Given the description of an element on the screen output the (x, y) to click on. 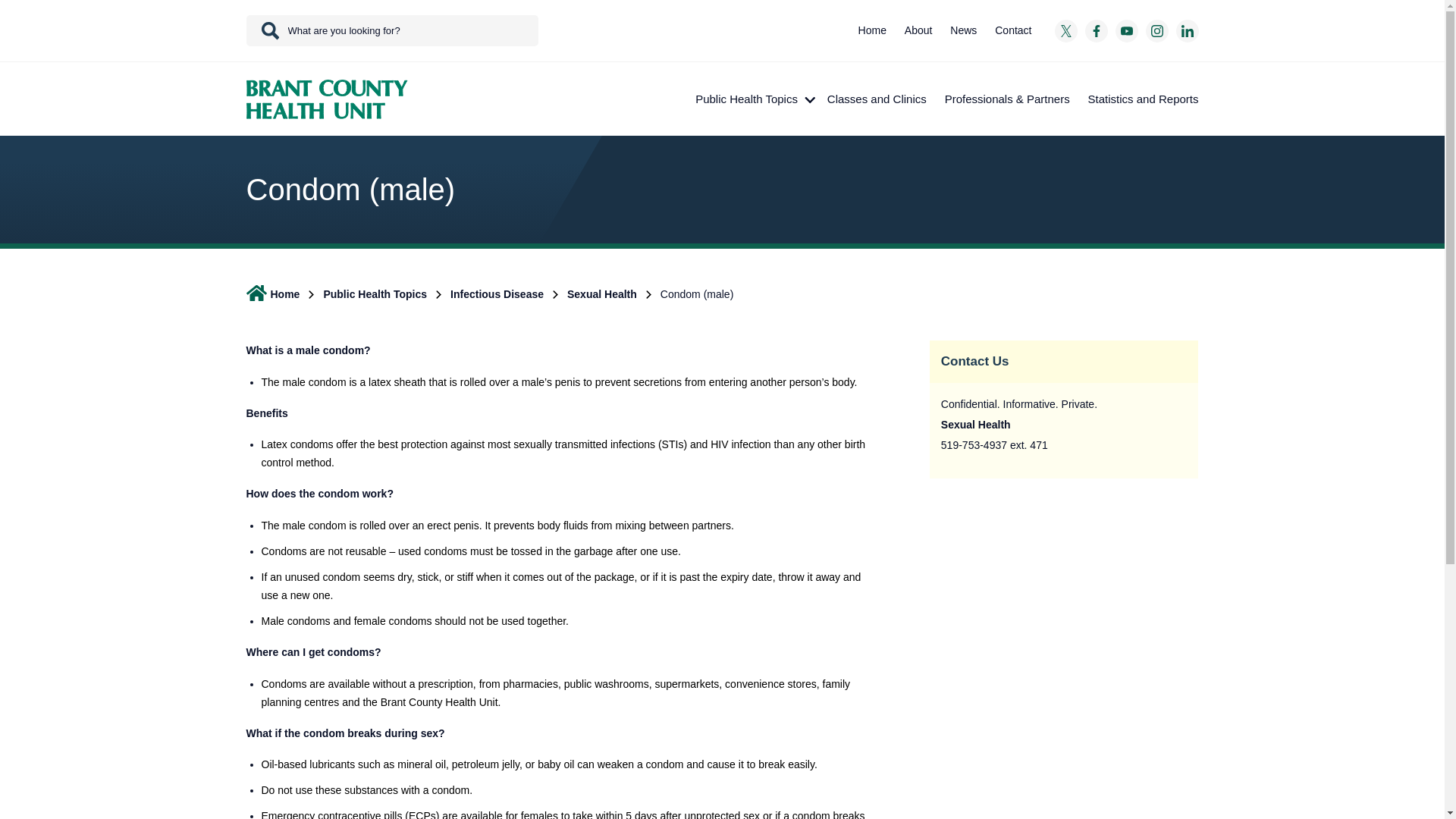
About (918, 30)
Public Health Topics (752, 98)
News (963, 30)
Contact (1013, 30)
Home (871, 30)
